Given the description of an element on the screen output the (x, y) to click on. 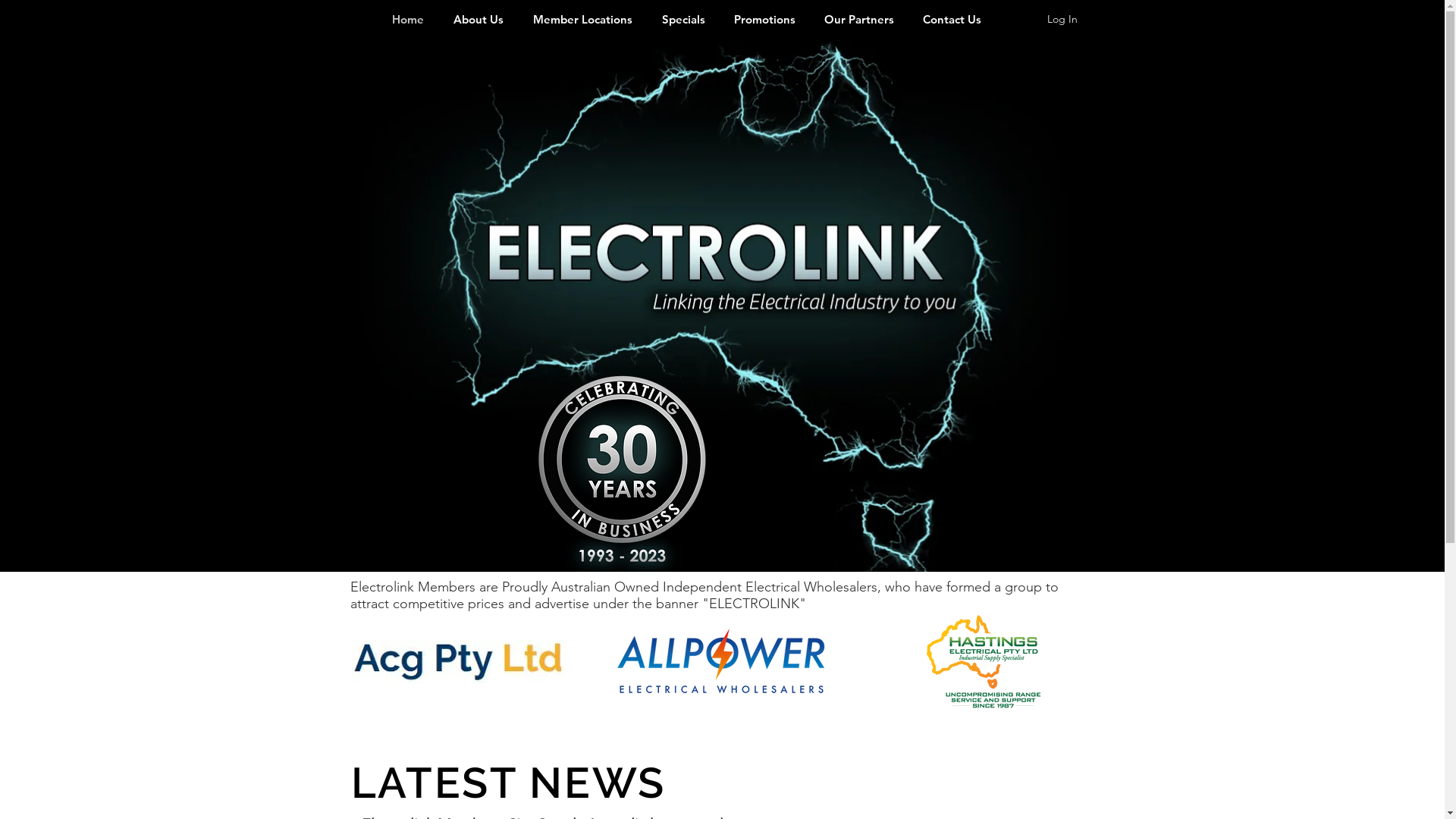
Promotions Element type: text (763, 19)
Contact Us Element type: text (951, 19)
Home Element type: text (408, 19)
Member Locations Element type: text (582, 19)
About Us Element type: text (477, 19)
Specials Element type: text (683, 19)
Log In Element type: text (1061, 19)
Our Partners Element type: text (858, 19)
